Given the description of an element on the screen output the (x, y) to click on. 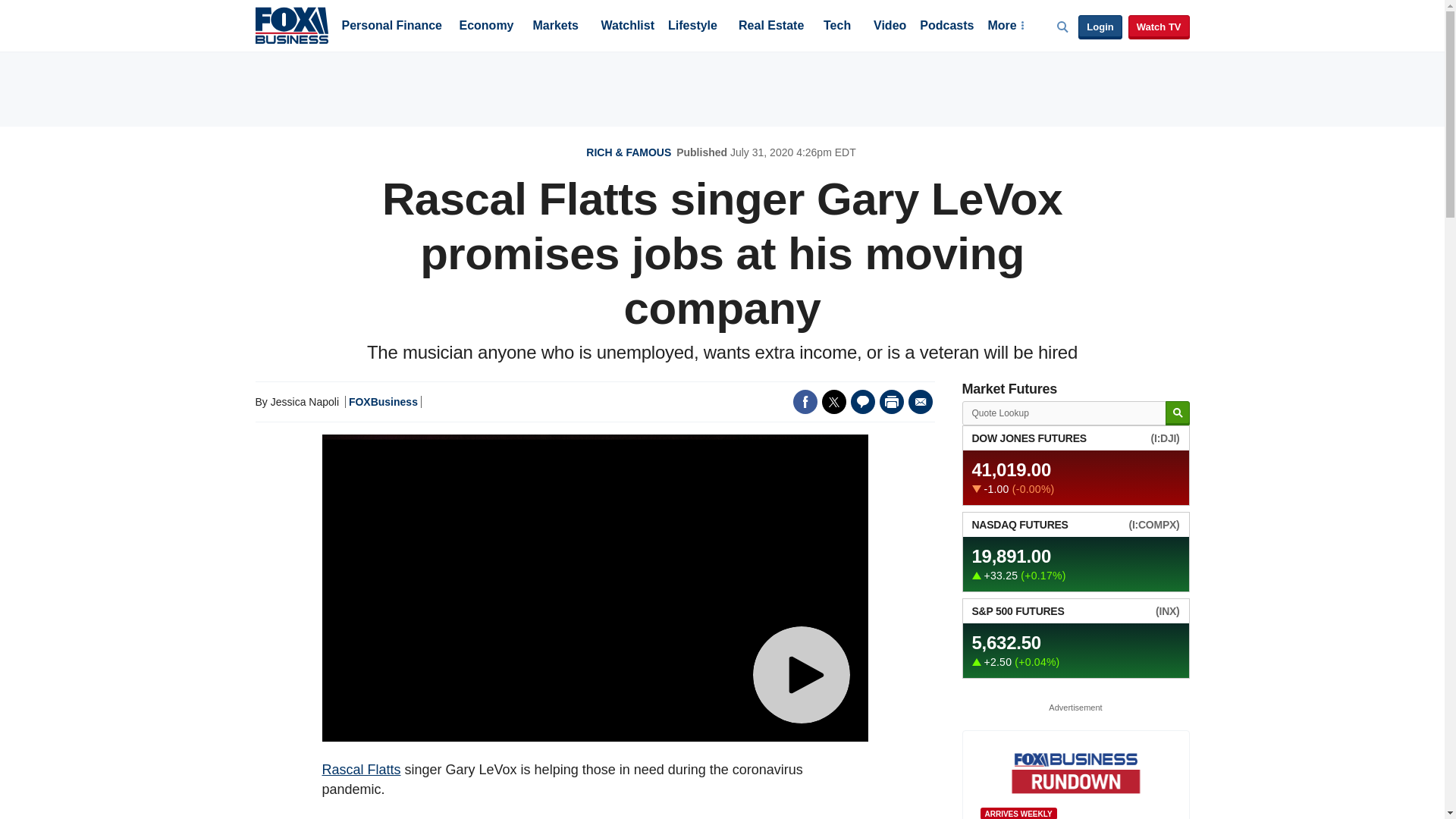
Watch TV (1158, 27)
Markets (555, 27)
Watchlist (626, 27)
Real Estate (770, 27)
Video (889, 27)
Search (1176, 413)
Login (1099, 27)
Economy (486, 27)
Lifestyle (692, 27)
Tech (837, 27)
